Given the description of an element on the screen output the (x, y) to click on. 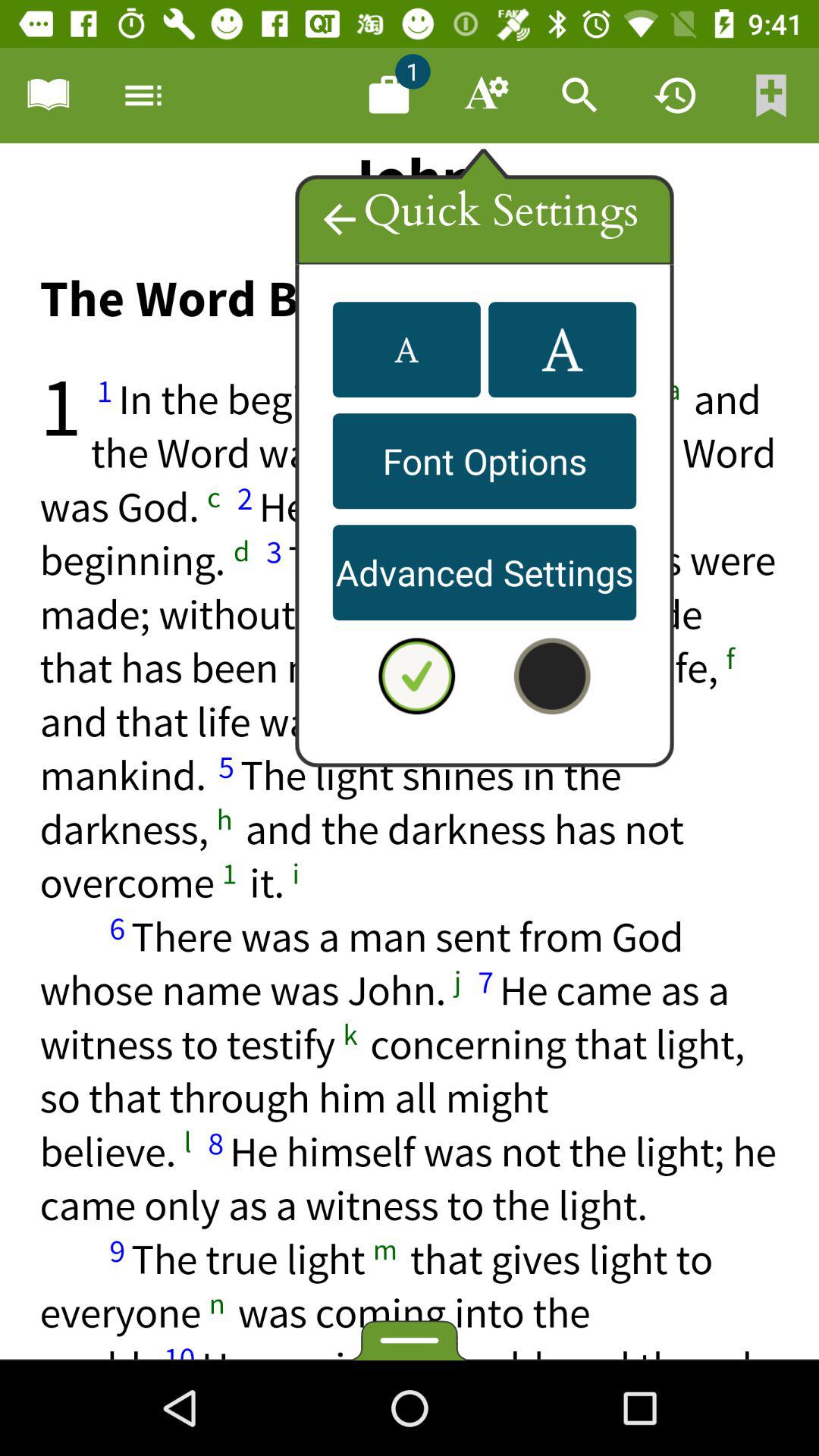
orange box flashing on timer sign (675, 95)
